Given the description of an element on the screen output the (x, y) to click on. 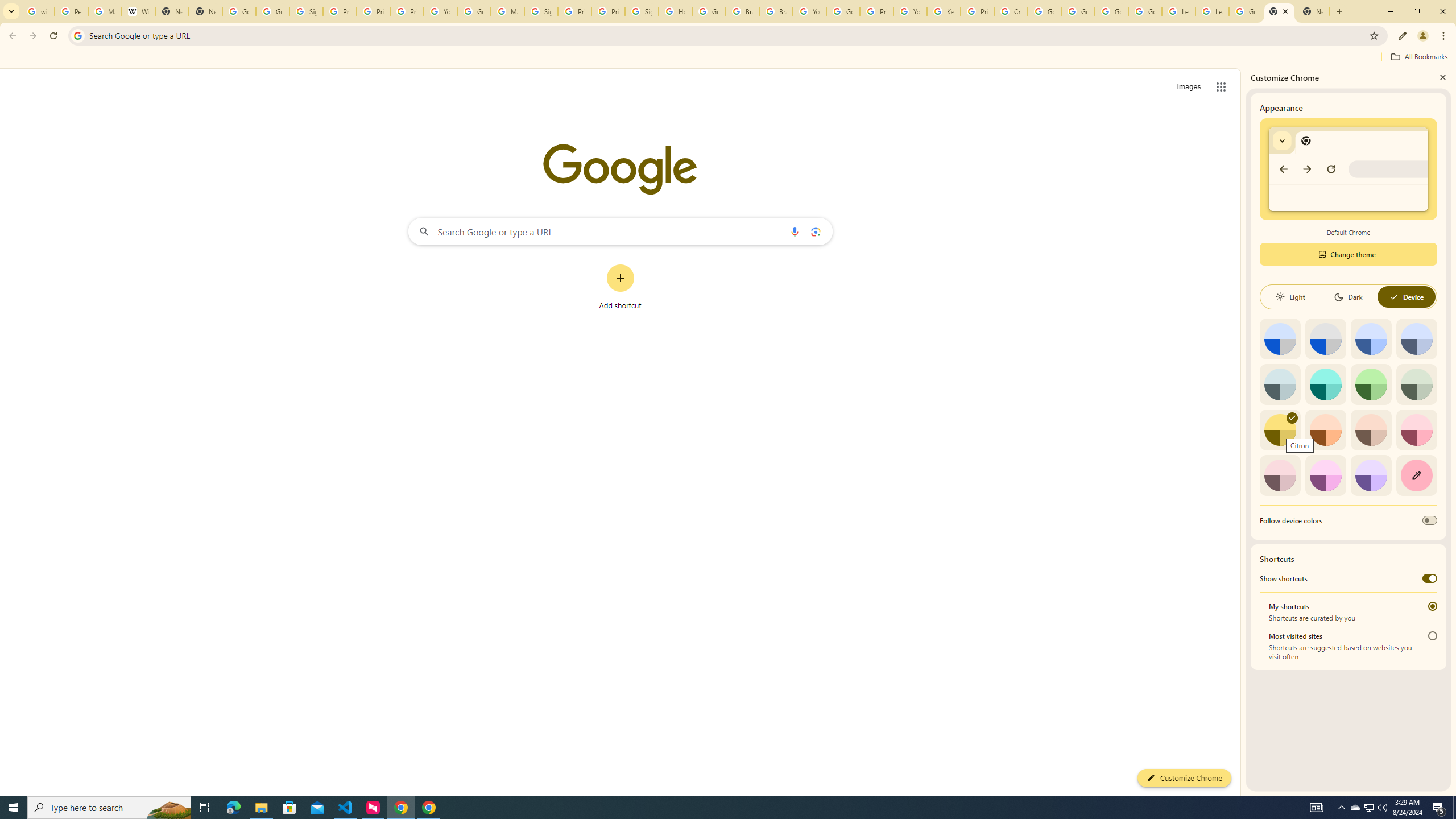
Citron (1279, 429)
Follow device colors (1429, 519)
AutomationID: svg (1292, 417)
Orange (1325, 429)
Dark (1348, 296)
Aqua (1325, 383)
Light (1289, 296)
AutomationID: baseSvg (1394, 296)
